Given the description of an element on the screen output the (x, y) to click on. 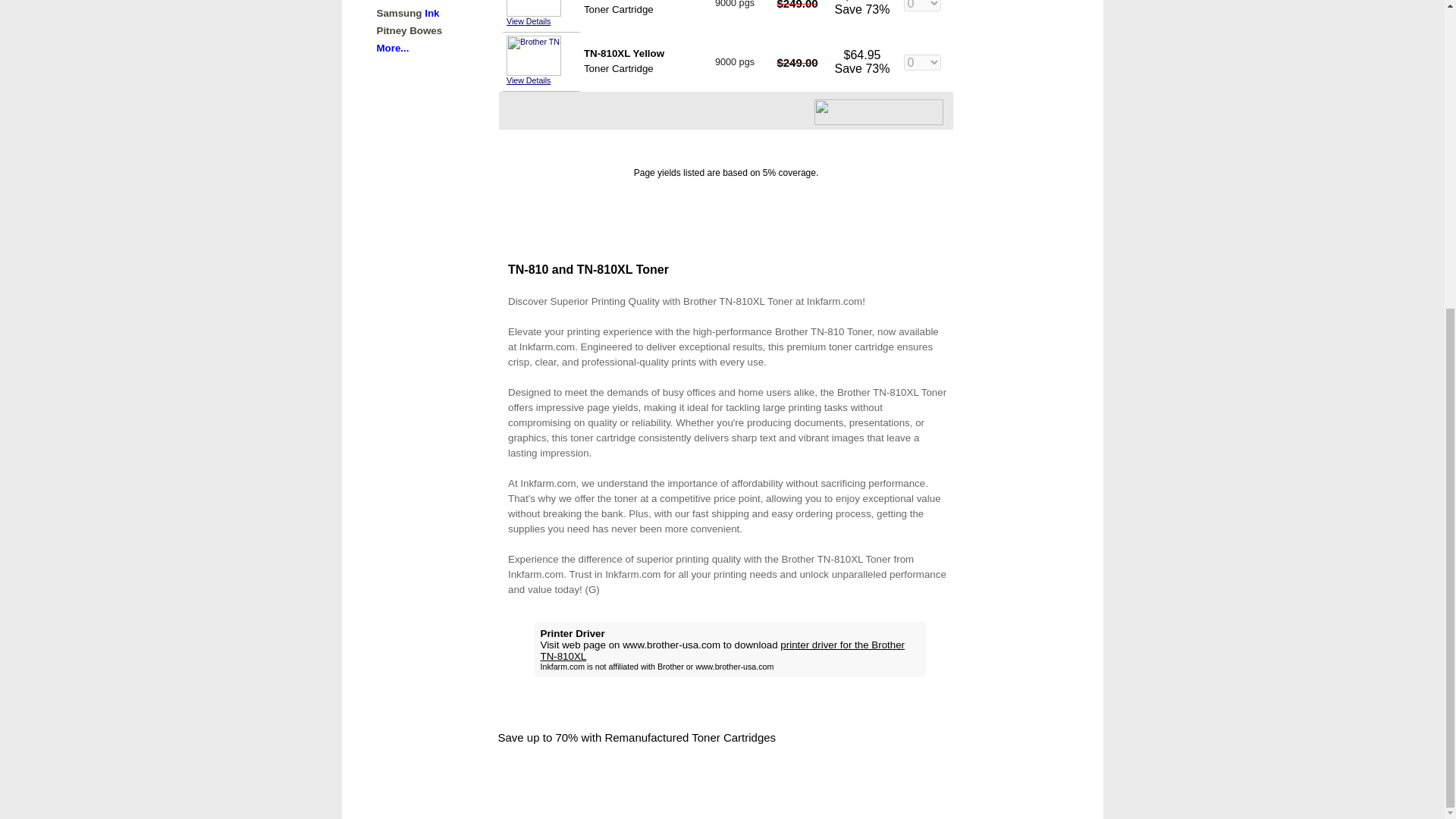
Brother TN-810XL TN-810XL Magenta cartridge (533, 8)
Okidata Ink (402, 0)
Contact (480, 778)
Brother TN-810XL TN-810XL Yellow cartridge (533, 56)
More... (392, 48)
Customer Service (548, 778)
Pitney Bowes (408, 30)
Samsung Ink (407, 12)
Affiliates (433, 778)
printer driver for the Brother TN-810XL (722, 650)
